Given the description of an element on the screen output the (x, y) to click on. 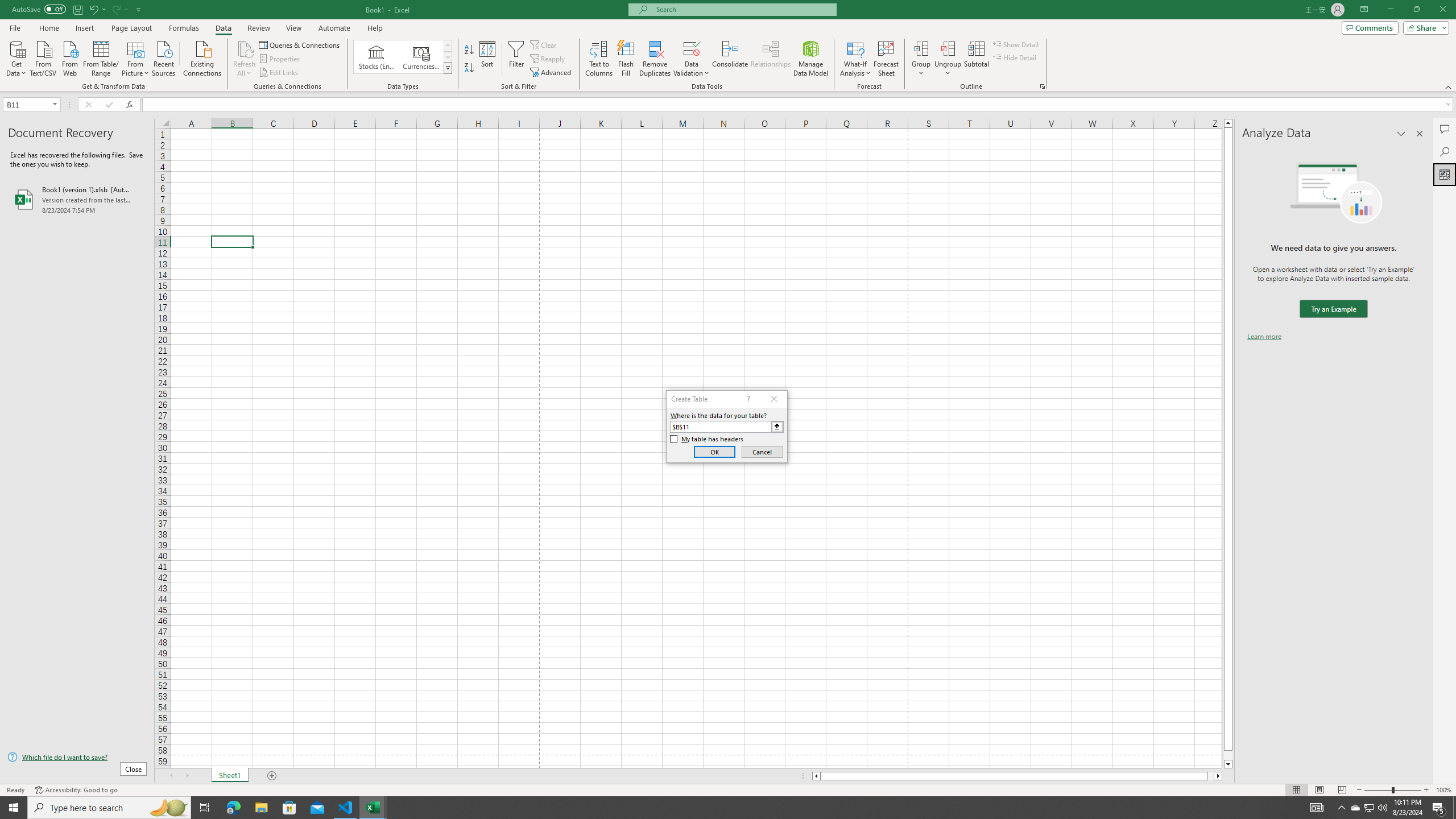
From Picture (135, 57)
Hide Detail (1014, 56)
We need data to give you answers. Try an Example (1333, 308)
Group and Outline Settings (1042, 85)
Subtotal (976, 58)
Text to Columns... (598, 58)
Row Down (448, 56)
Page right (1211, 775)
Automate (334, 28)
Recent Sources (163, 57)
Group... (921, 48)
